Given the description of an element on the screen output the (x, y) to click on. 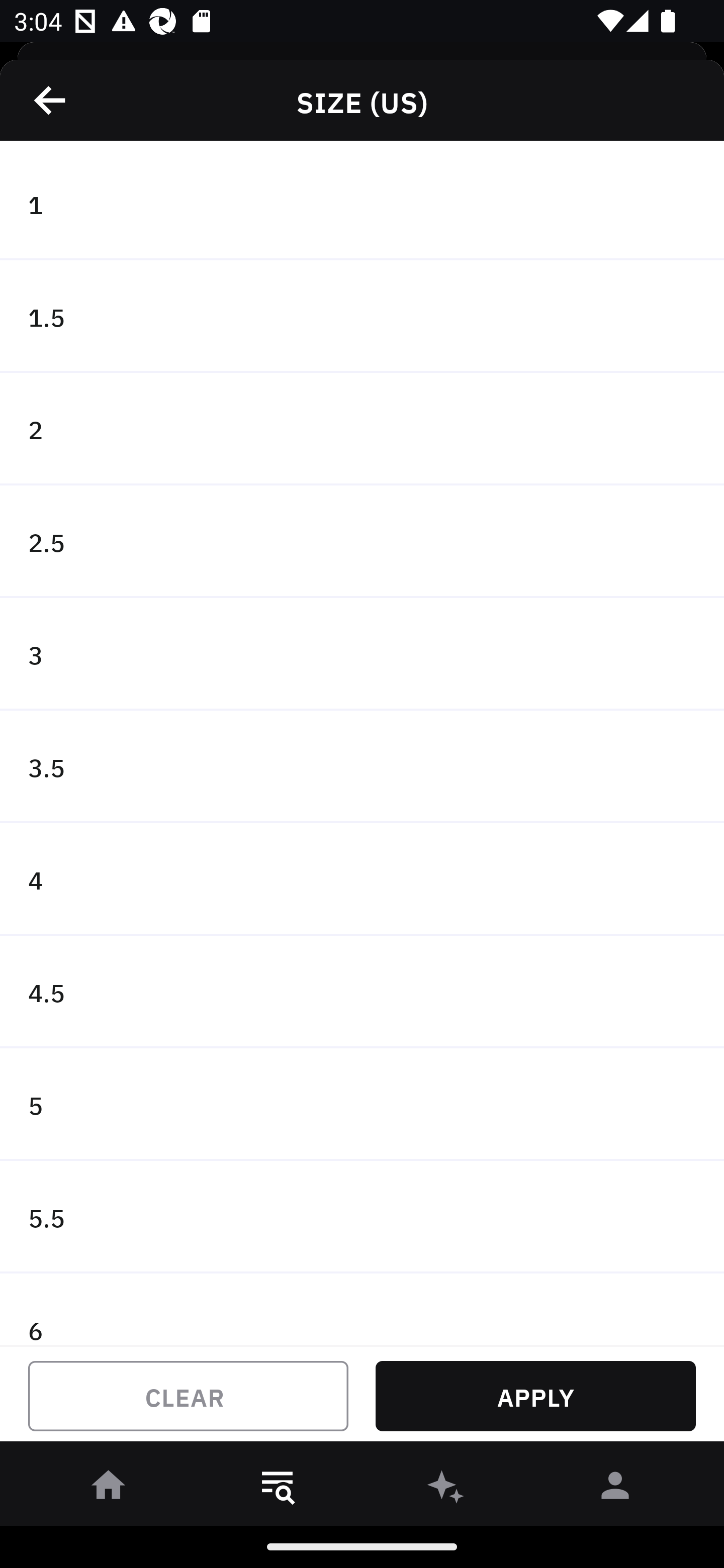
 (50, 100)
1 (362, 203)
1.5 (362, 316)
2 (362, 429)
2.5 (362, 541)
3 (362, 653)
3.5 (362, 766)
4 (362, 879)
4.5 (362, 992)
5 (362, 1104)
5.5 (362, 1216)
6 (362, 1309)
CLEAR  (188, 1396)
APPLY (535, 1396)
󰋜 (108, 1488)
󱎸 (277, 1488)
󰫢 (446, 1488)
󰀄 (615, 1488)
